Given the description of an element on the screen output the (x, y) to click on. 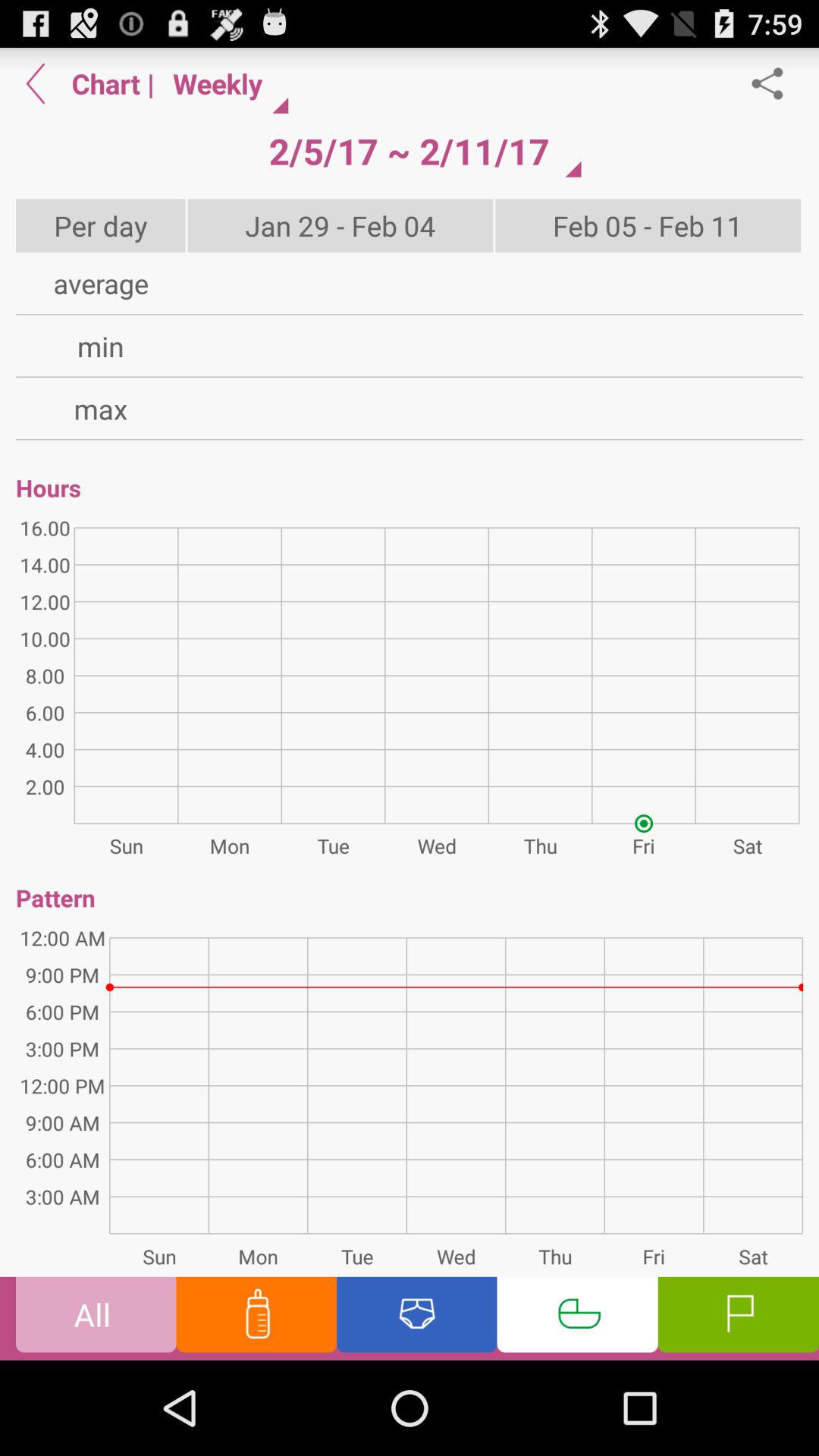
select icon below weekly button (409, 151)
